Given the description of an element on the screen output the (x, y) to click on. 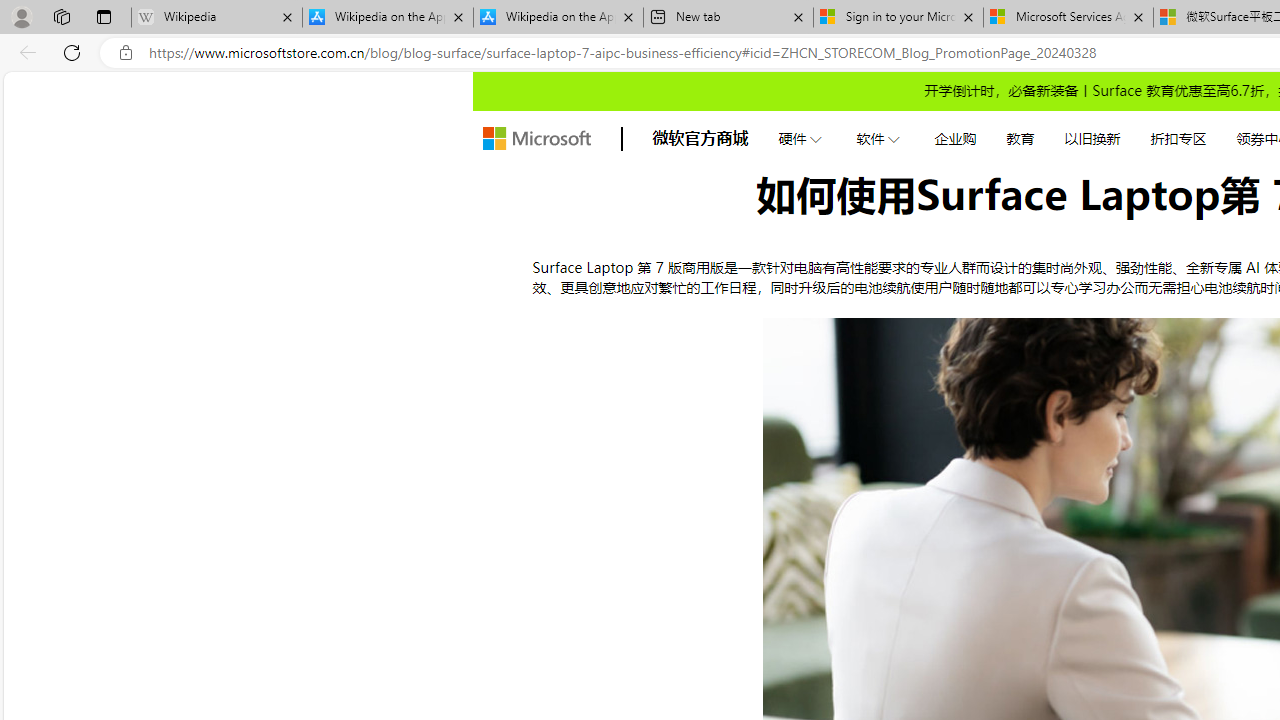
Microsoft Services Agreement (1068, 17)
Sign in to your Microsoft account (898, 17)
Microsoft (536, 138)
